Given the description of an element on the screen output the (x, y) to click on. 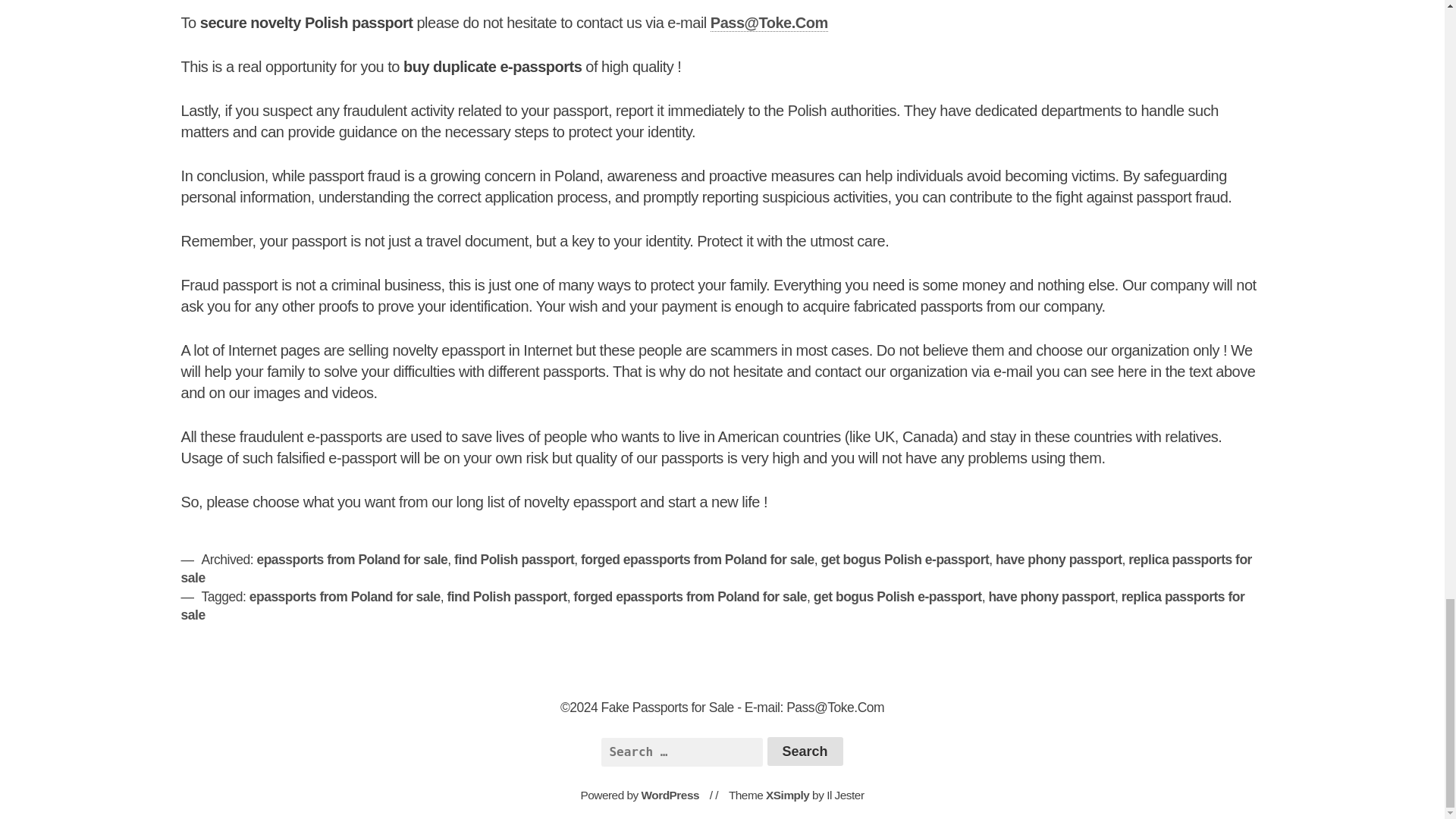
get bogus Polish e-passport (904, 559)
epassports from Poland for sale (344, 596)
have phony passport (1058, 559)
Search (805, 751)
WordPress (670, 794)
have phony passport (1051, 596)
epassports from Poland for sale (351, 559)
replica passports for sale (716, 569)
Search (805, 751)
find Polish passport (513, 559)
XSimply (787, 794)
forged epassports from Poland for sale (696, 559)
Search (805, 751)
forged epassports from Poland for sale (689, 596)
replica passports for sale (712, 605)
